Given the description of an element on the screen output the (x, y) to click on. 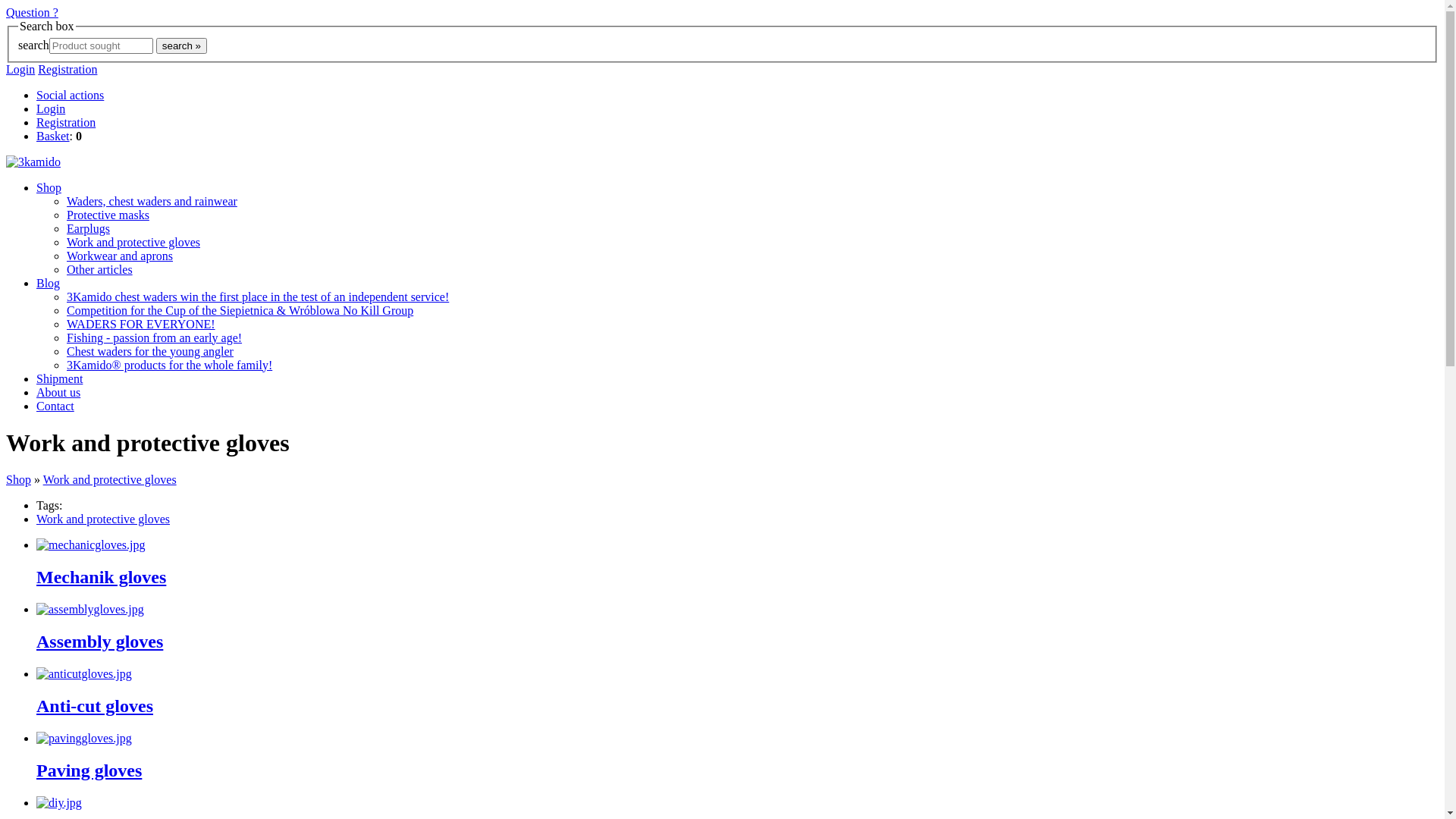
Workwear and aprons Element type: text (119, 255)
Protective masks Element type: text (107, 214)
Assembly gloves Element type: text (99, 641)
Registration Element type: text (67, 68)
Mechanik gloves Element type: text (101, 576)
Registration Element type: text (65, 122)
Contact Element type: text (55, 405)
WADERS FOR EVERYONE! Element type: text (140, 323)
About us Element type: text (58, 391)
Shipment Element type: text (59, 378)
Fishing - passion from an early age! Element type: text (153, 337)
Shop Element type: text (48, 187)
Anti-cut gloves Element type: text (94, 705)
Basket Element type: text (52, 135)
Question ? Element type: text (32, 12)
Login Element type: text (50, 108)
Shop Element type: text (18, 479)
Work and protective gloves Element type: text (109, 479)
Other articles Element type: text (99, 269)
Chest waders for the young angler Element type: text (149, 351)
Paving gloves Element type: text (88, 770)
Login Element type: text (20, 68)
Earplugs Element type: text (87, 228)
Social actions Element type: text (69, 94)
Waders, chest waders and rainwear Element type: text (151, 200)
Work and protective gloves Element type: text (133, 241)
Blog Element type: text (47, 282)
Work and protective gloves Element type: text (102, 518)
